Given the description of an element on the screen output the (x, y) to click on. 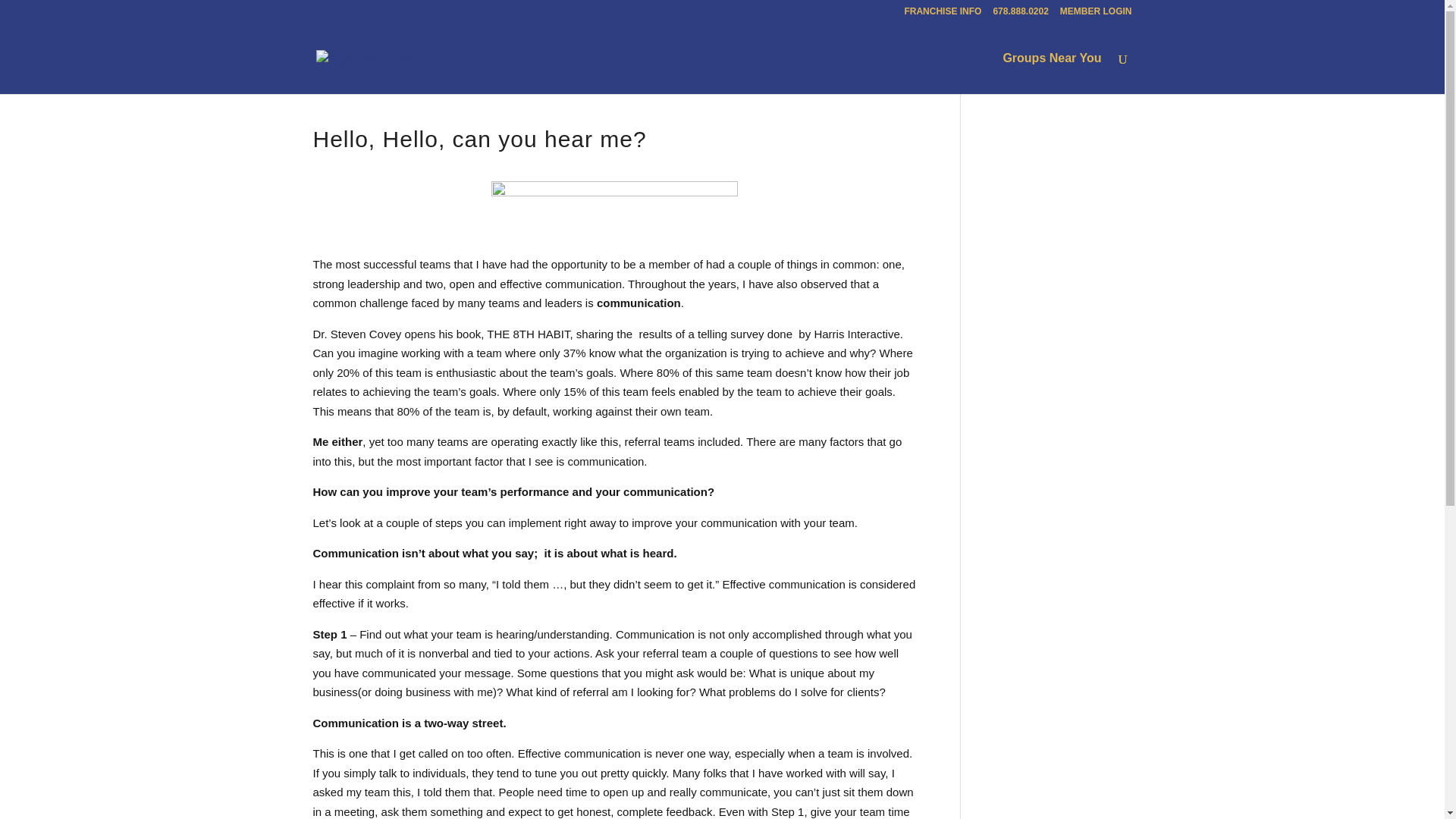
Groups Near You (1051, 73)
678.888.0202 (1020, 14)
referral-fire-logo (615, 211)
MEMBER LOGIN (1095, 14)
FRANCHISE INFO (942, 14)
